Given the description of an element on the screen output the (x, y) to click on. 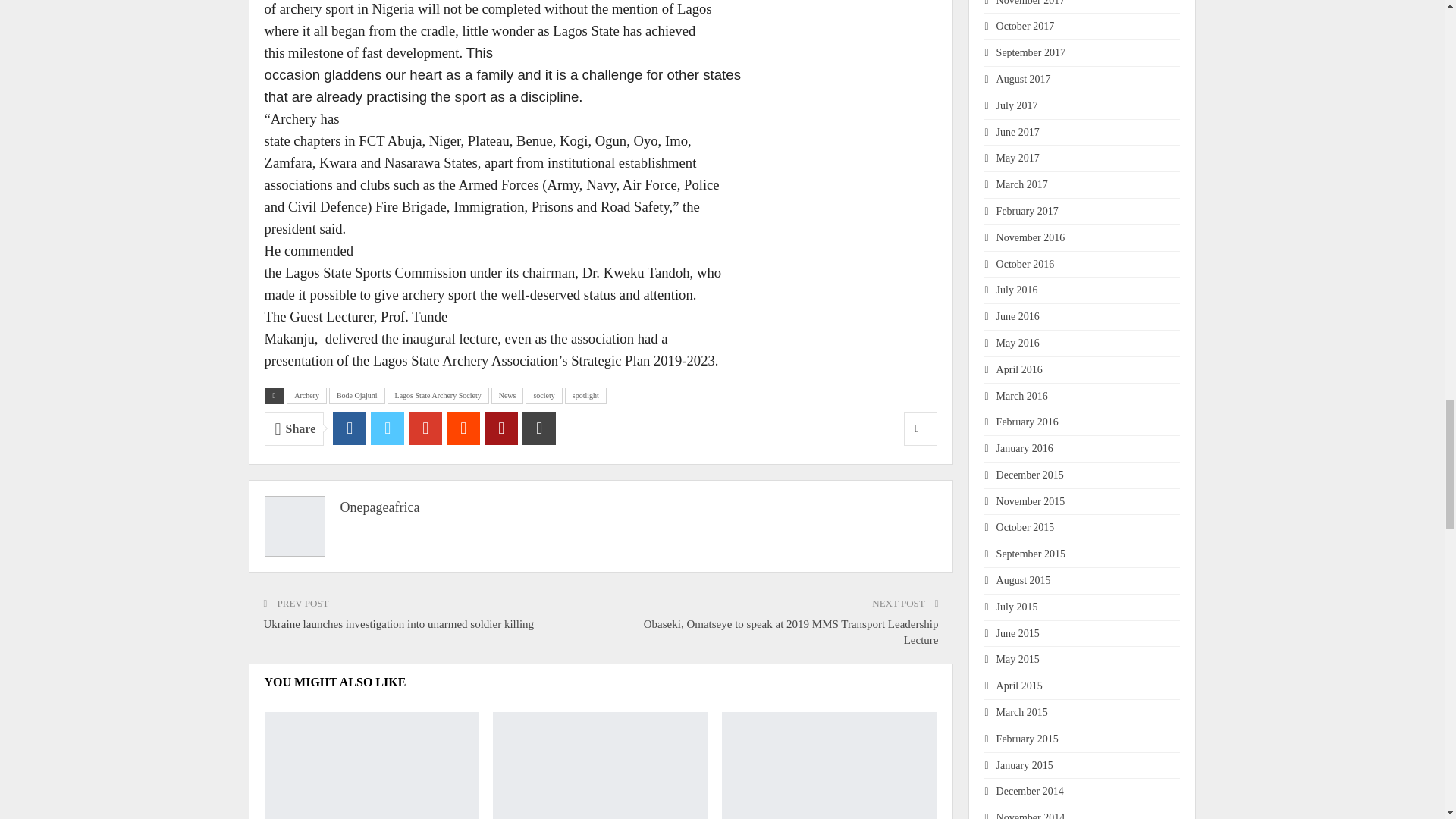
Archery (306, 395)
Lagos State Archery Society (438, 395)
News (508, 395)
Essien thanks Jamoh as he bows out of NIMASA (600, 765)
Bode Ojajuni (357, 395)
